Given the description of an element on the screen output the (x, y) to click on. 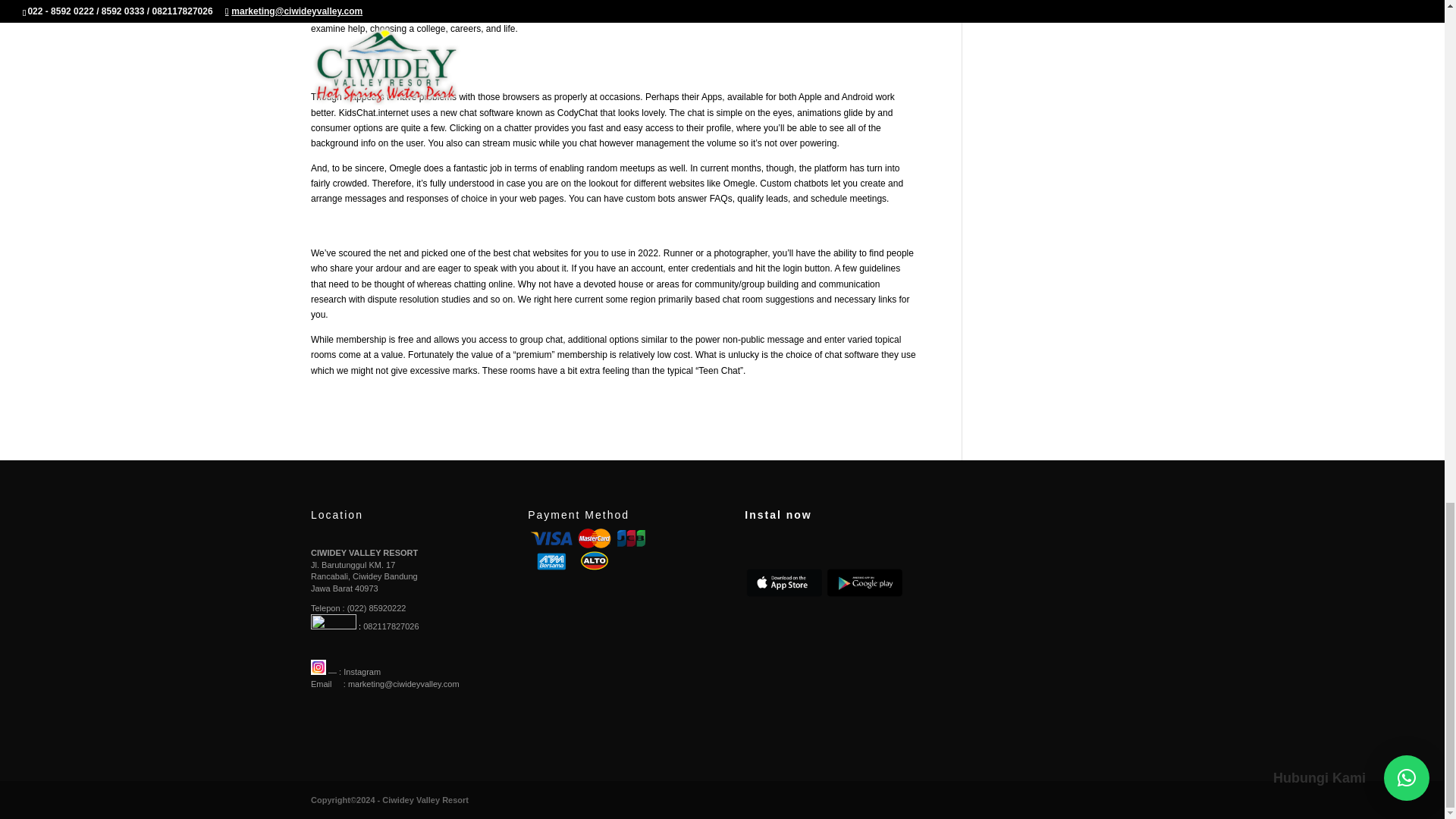
shockrooms.com (563, 12)
: (336, 625)
